Given the description of an element on the screen output the (x, y) to click on. 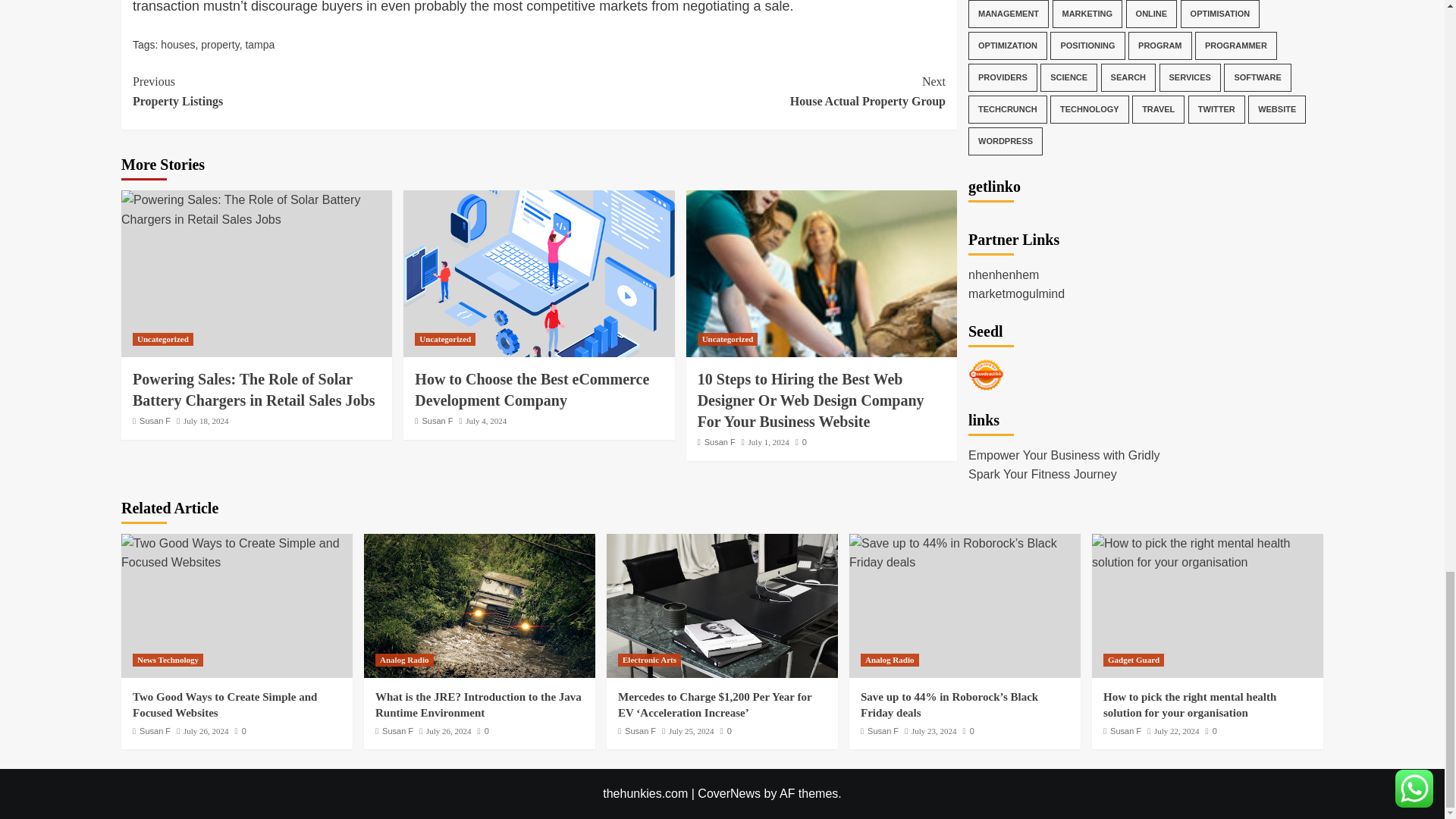
houses (177, 44)
tampa (259, 44)
How to Choose the Best eCommerce Development Company (335, 91)
Uncategorized (538, 273)
Susan F (741, 91)
Two Good Ways to Create Simple and Focused Websites (445, 338)
July 18, 2024 (154, 420)
Uncategorized (236, 552)
property (205, 420)
